Given the description of an element on the screen output the (x, y) to click on. 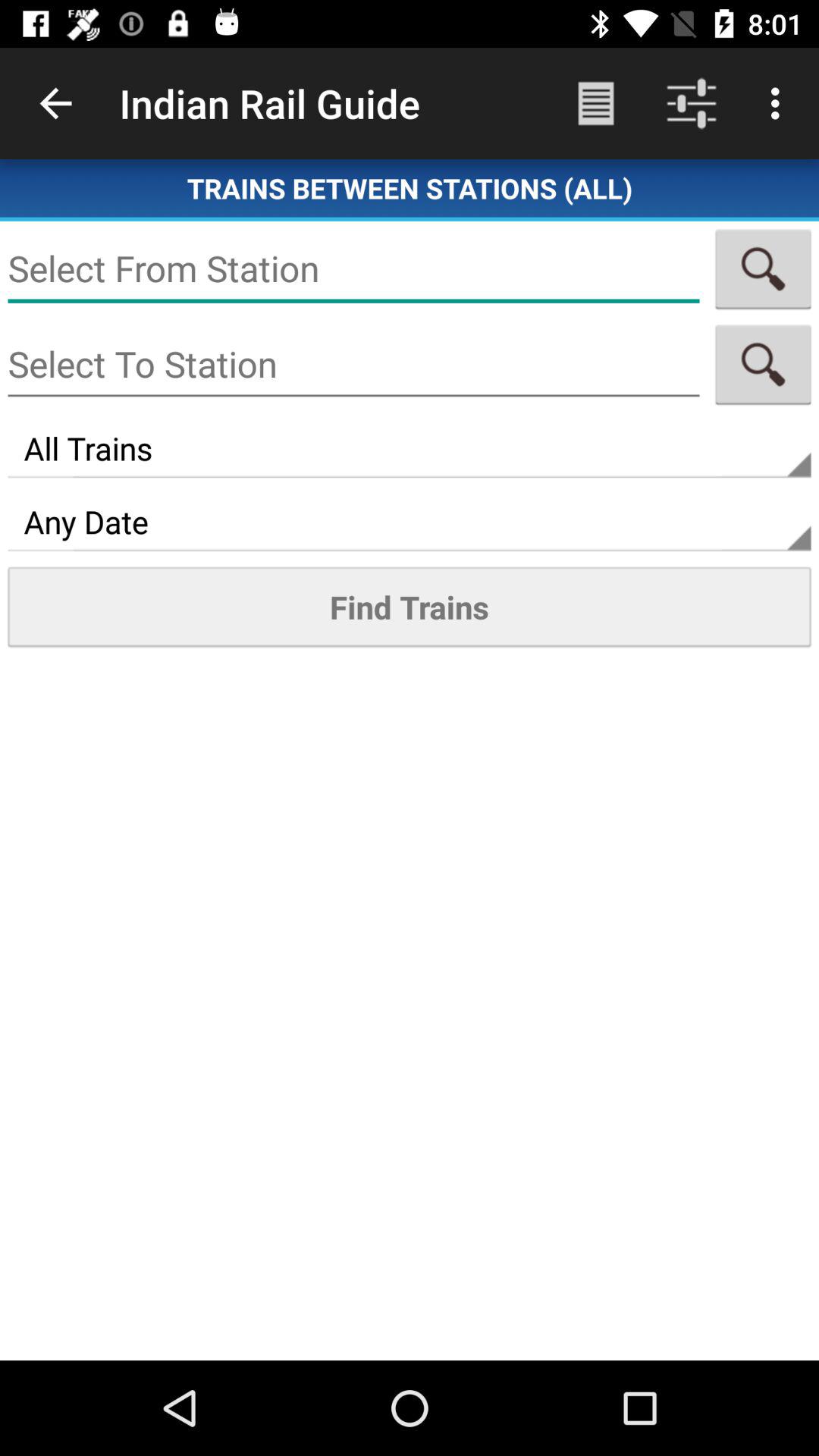
search (763, 268)
